Given the description of an element on the screen output the (x, y) to click on. 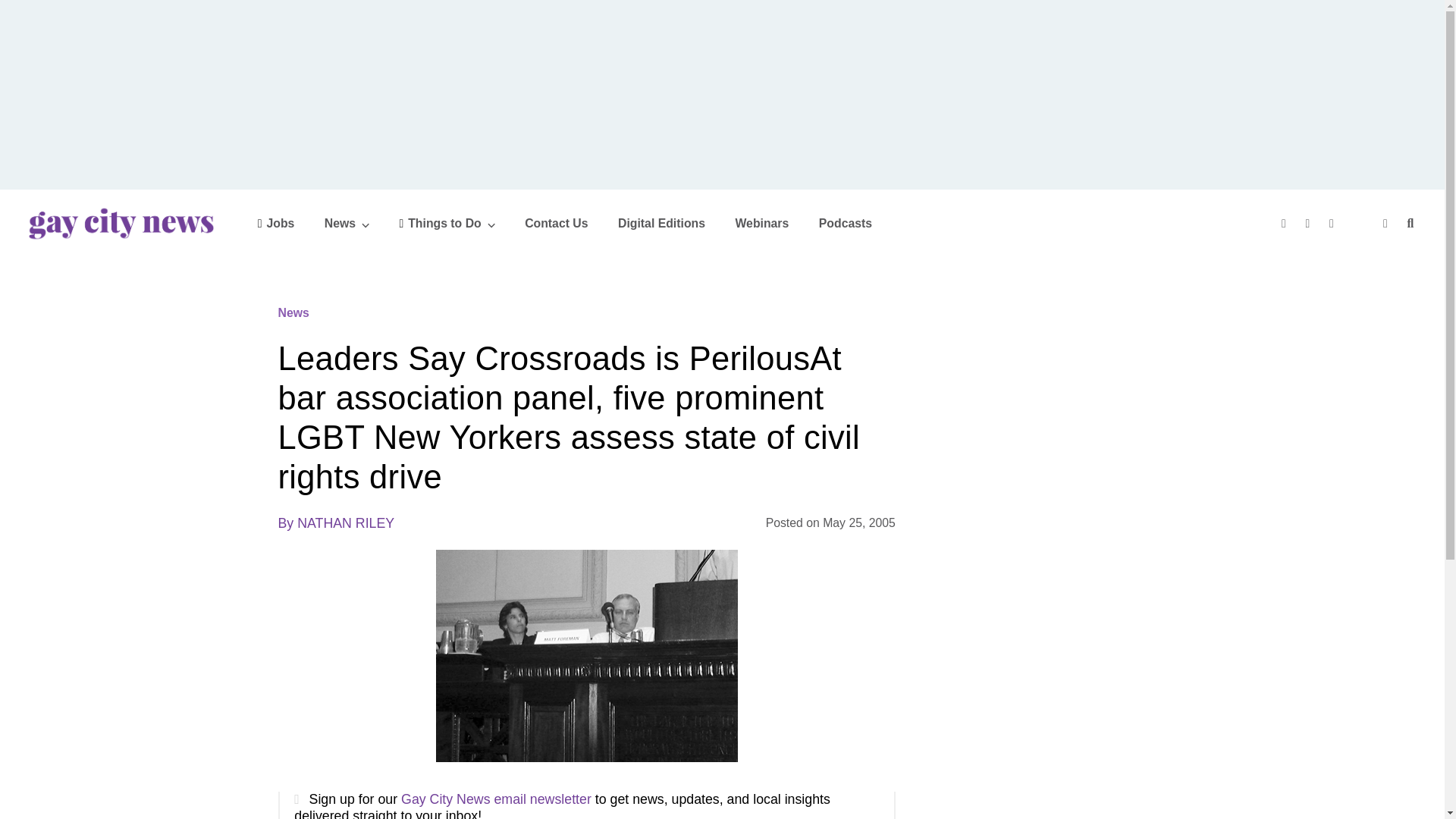
News (346, 223)
Webinars (762, 223)
Podcasts (845, 223)
Jobs (276, 223)
Things to Do (446, 223)
Digital Editions (660, 223)
Contact Us (556, 223)
